Given the description of an element on the screen output the (x, y) to click on. 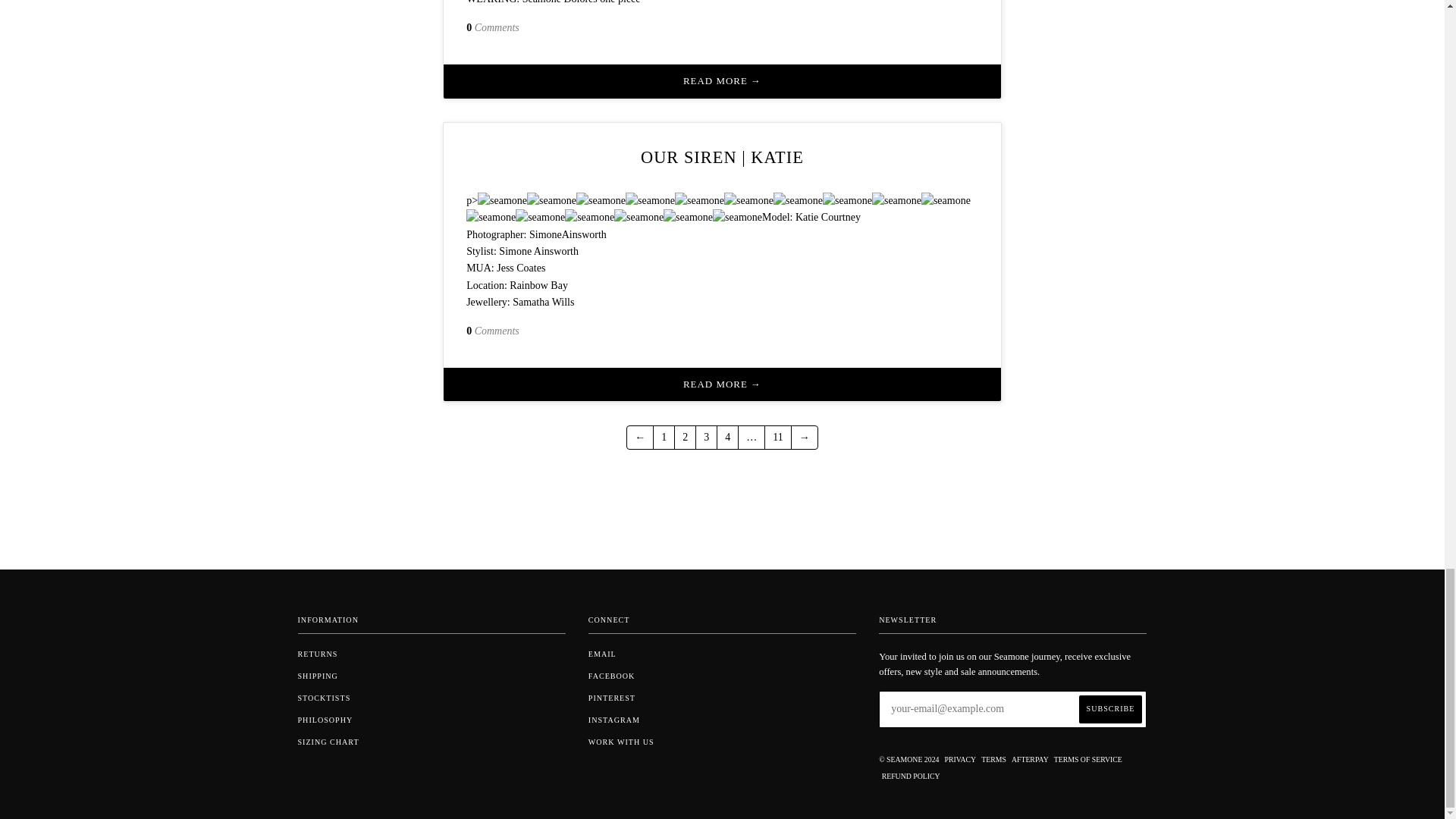
Subscribe (1110, 709)
